Given the description of an element on the screen output the (x, y) to click on. 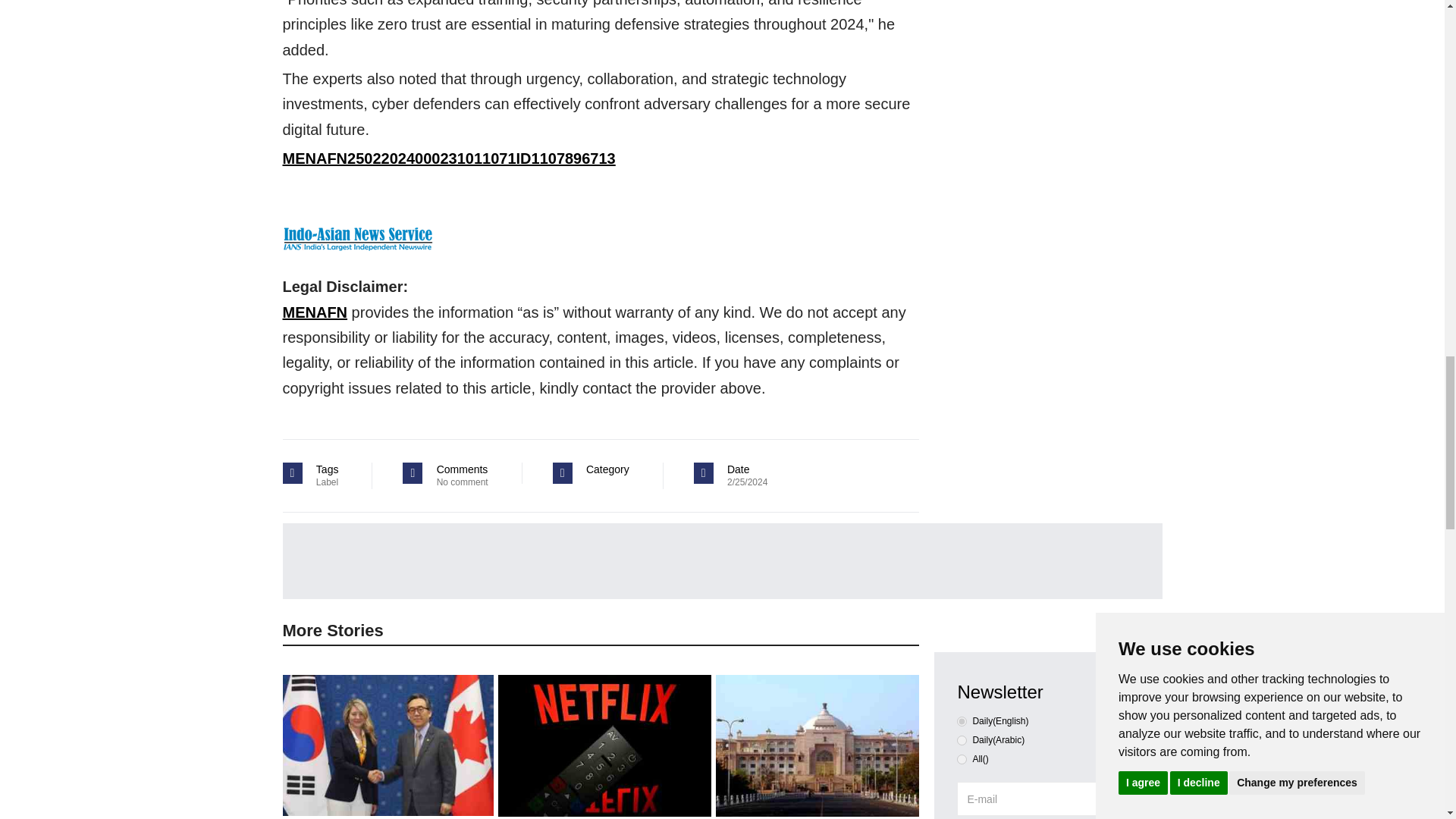
0 (961, 721)
2 (961, 759)
1 (961, 740)
